Given the description of an element on the screen output the (x, y) to click on. 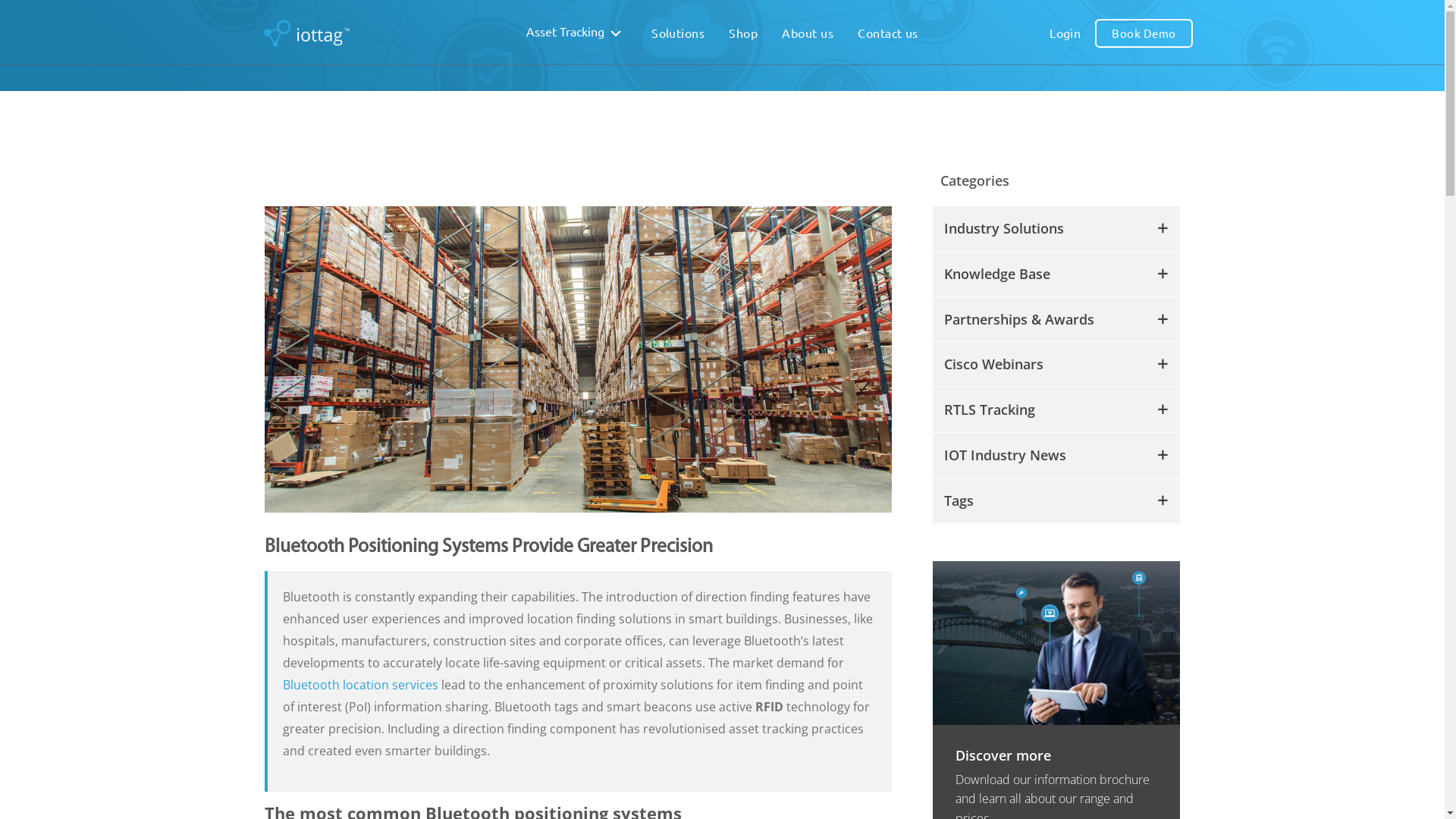
Contact us Element type: text (887, 32)
Asset Tracking Element type: text (576, 31)
Shop Element type: text (742, 32)
Book Demo Element type: text (1143, 32)
Solutions Element type: text (677, 32)
Login Element type: text (1064, 32)
Bluetooth location services Element type: text (360, 684)
About us Element type: text (807, 32)
